Given the description of an element on the screen output the (x, y) to click on. 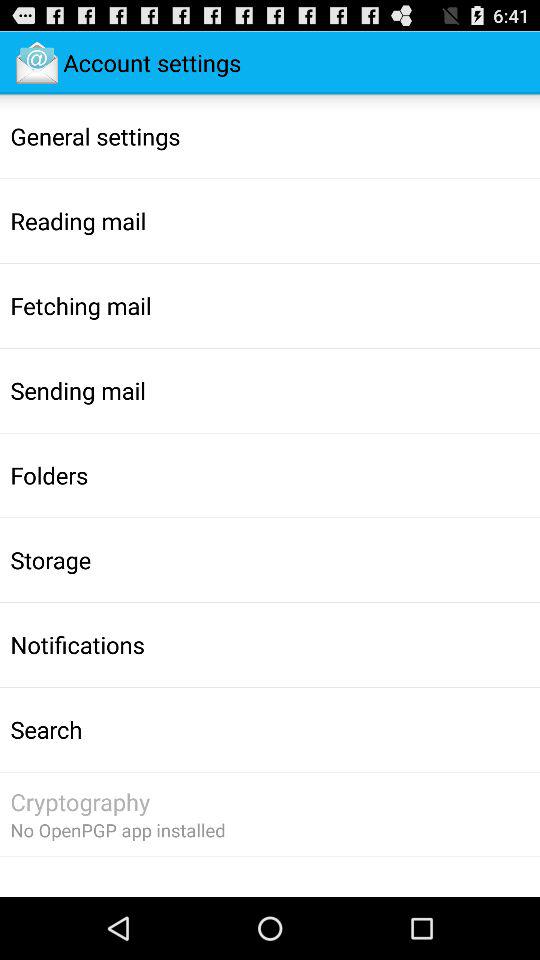
scroll to the reading mail icon (78, 221)
